Given the description of an element on the screen output the (x, y) to click on. 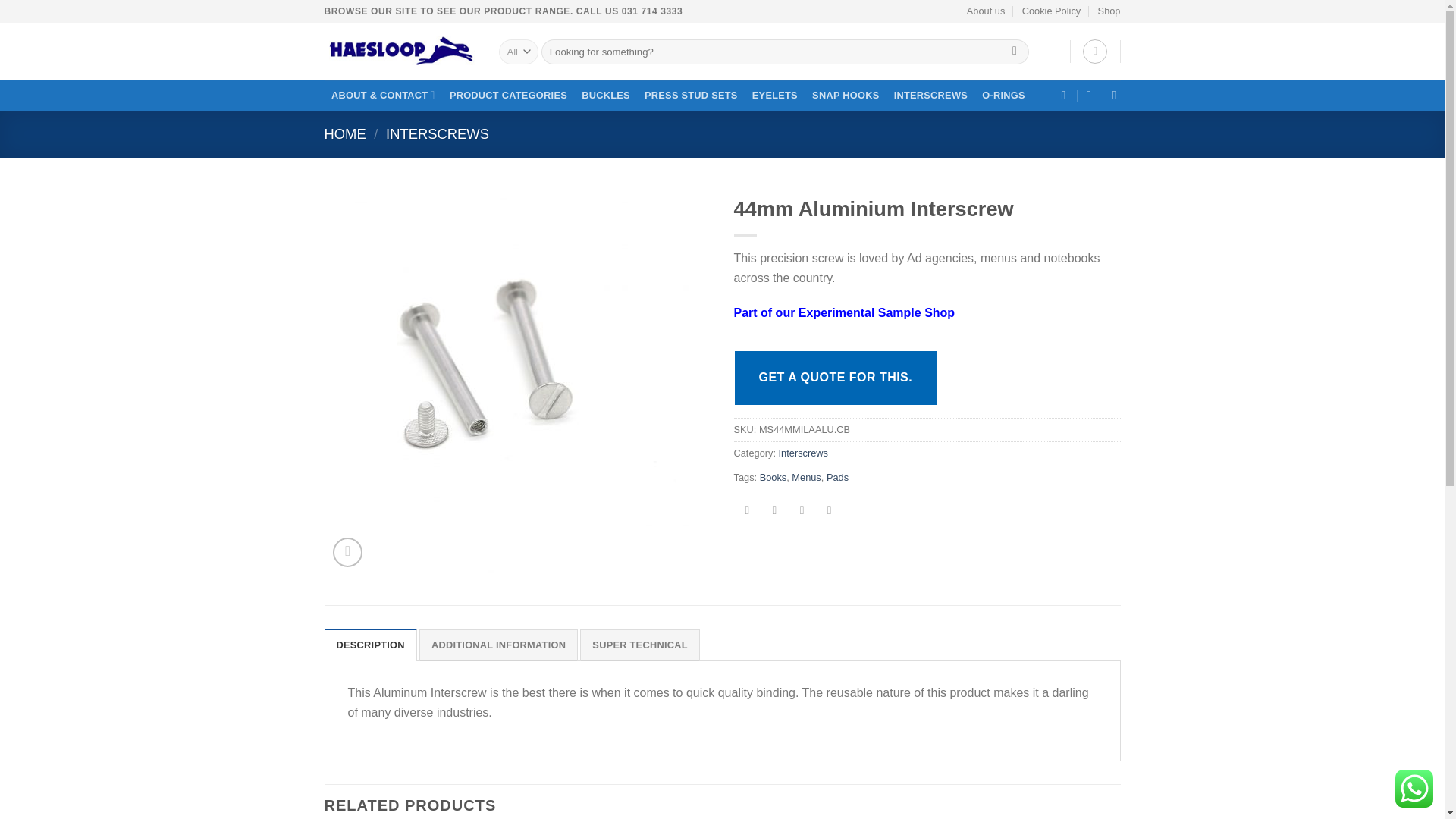
About us (986, 11)
O-RINGS (1003, 95)
Email to a Friend (774, 511)
SNAP HOOKS (845, 95)
INTERSCREWS (930, 95)
Menus (806, 477)
Shop (1109, 11)
Books (773, 477)
Zoom (347, 552)
BUCKLES (606, 95)
Share on Facebook (747, 511)
Share on LinkedIn (828, 511)
HOME (345, 133)
GET A QUOTE FOR THIS. (835, 377)
PRESS STUD SETS (690, 95)
